Given the description of an element on the screen output the (x, y) to click on. 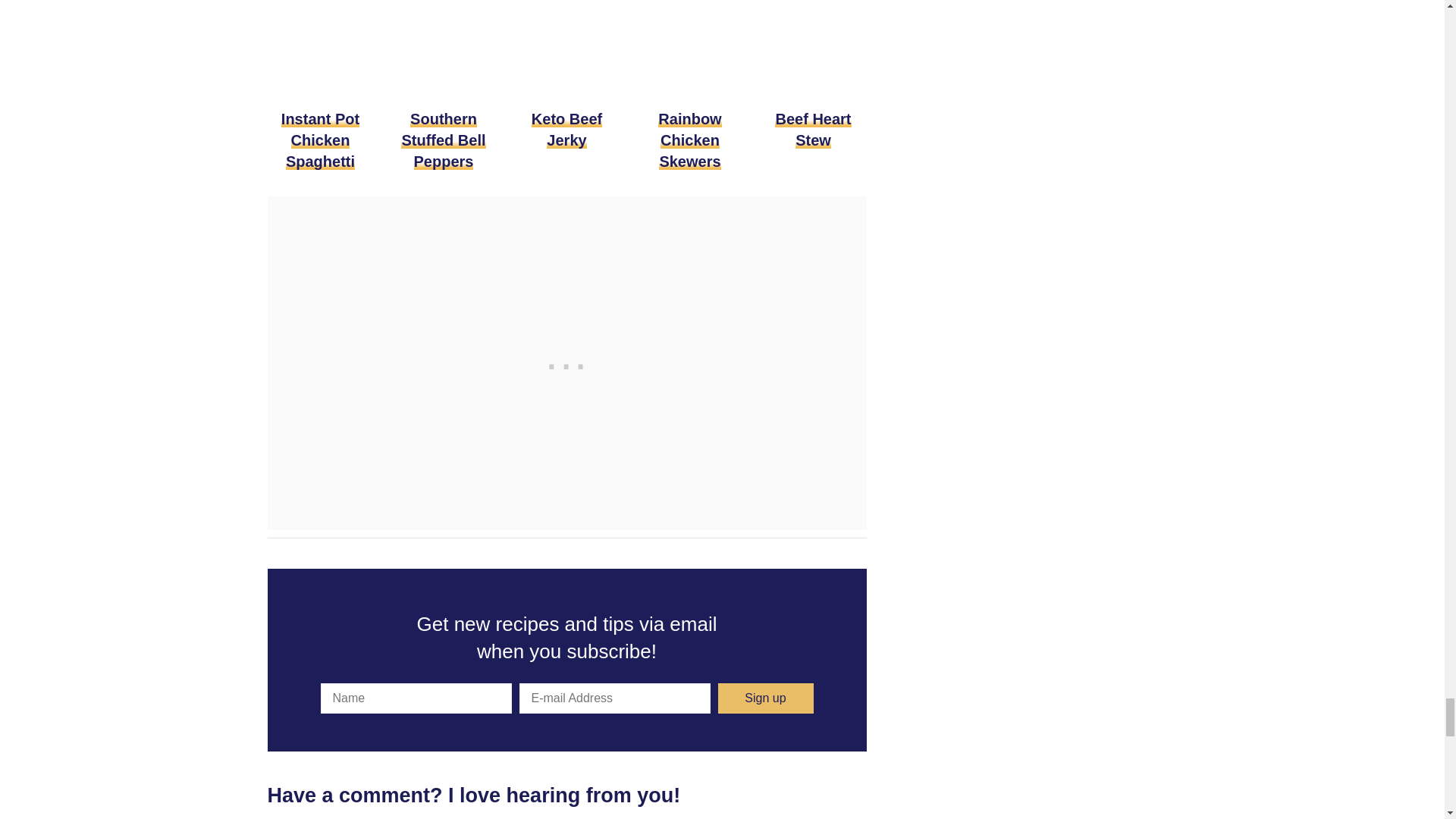
Sign up (764, 698)
